Given the description of an element on the screen output the (x, y) to click on. 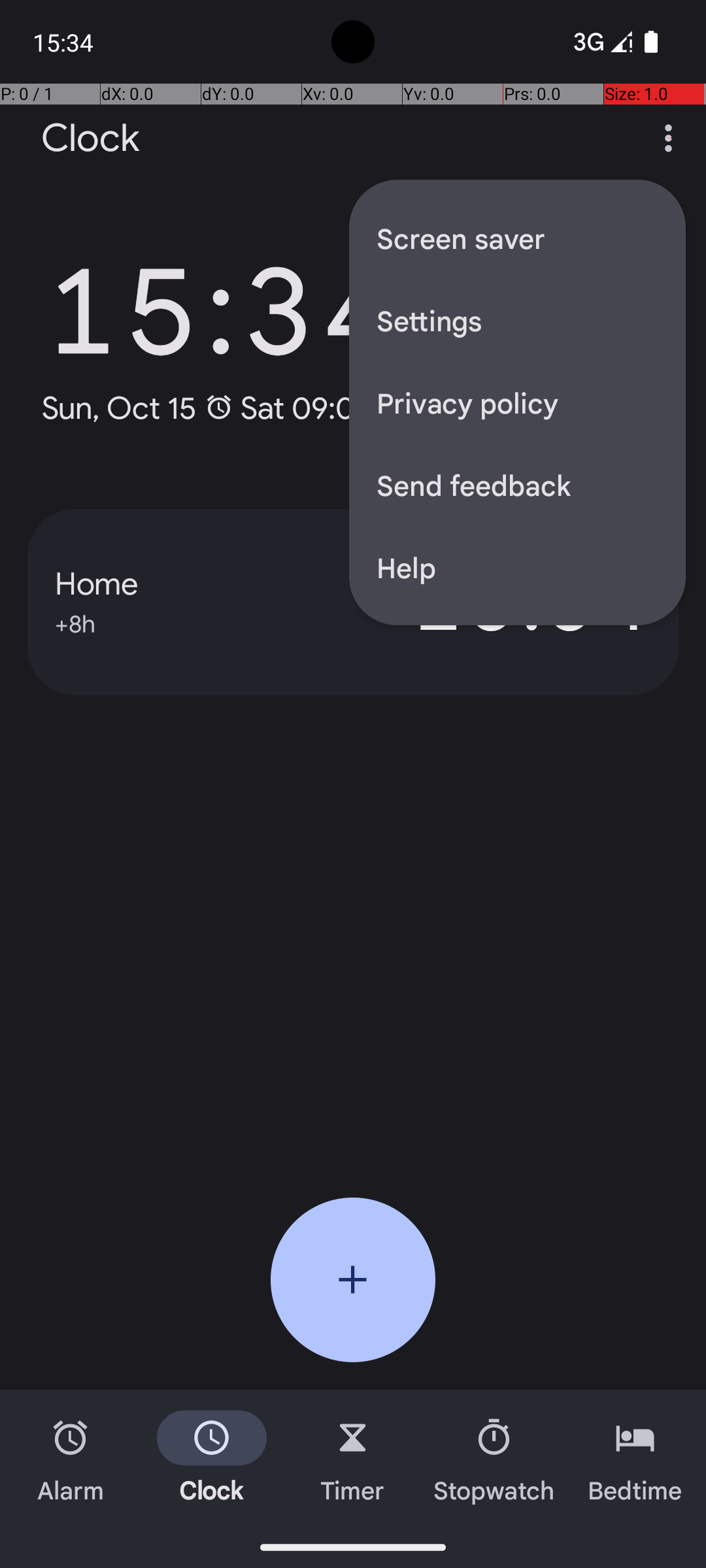
Screen saver Element type: android.widget.TextView (517, 237)
